Given the description of an element on the screen output the (x, y) to click on. 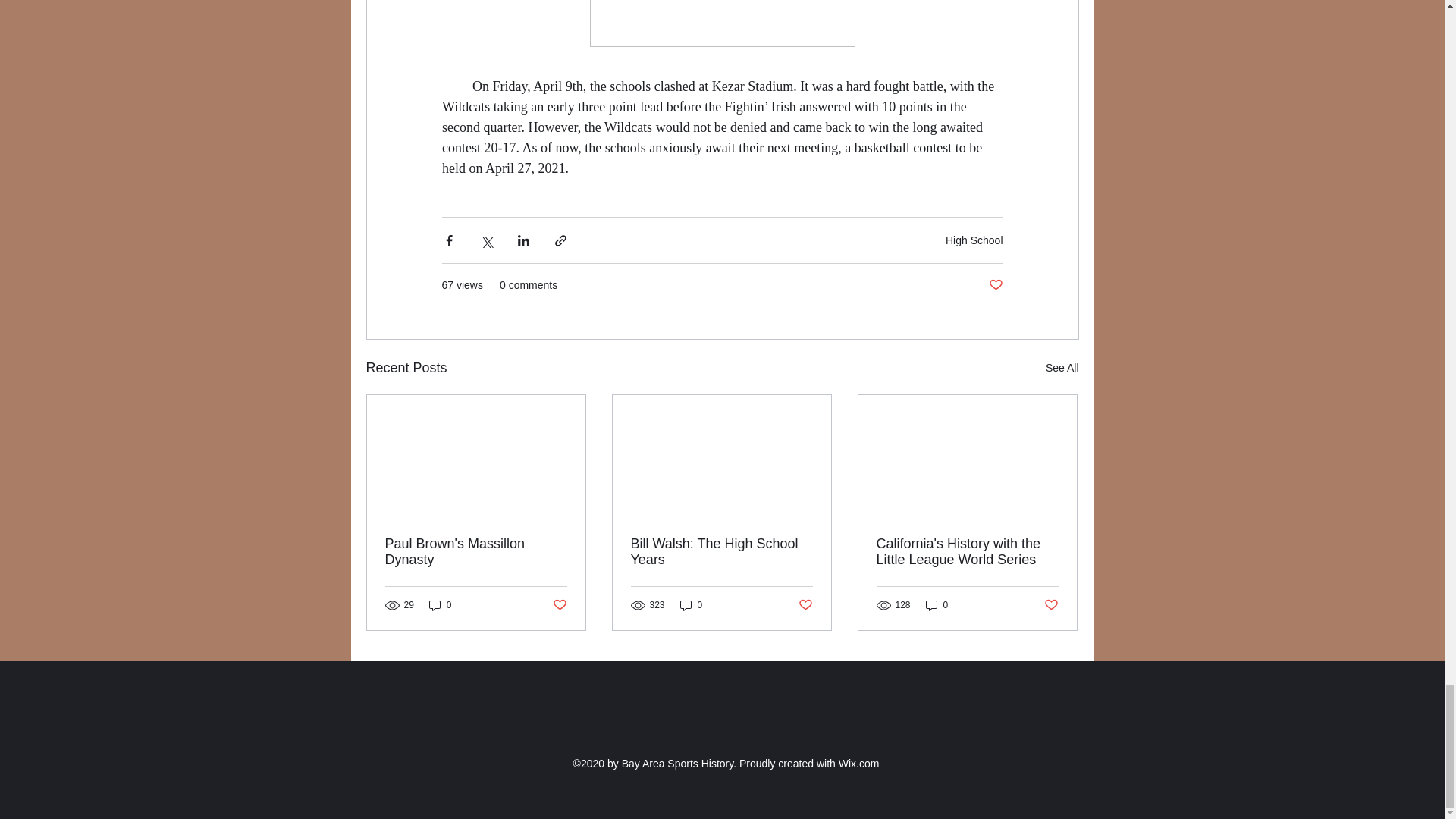
0 (440, 605)
See All (1061, 368)
Post not marked as liked (995, 285)
0 (937, 605)
Post not marked as liked (1050, 605)
Post not marked as liked (804, 605)
California's History with the Little League World Series (967, 552)
Post not marked as liked (558, 605)
High School (973, 240)
Bill Walsh: The High School Years (721, 552)
0 (691, 605)
Paul Brown's Massillon Dynasty (476, 552)
